Given the description of an element on the screen output the (x, y) to click on. 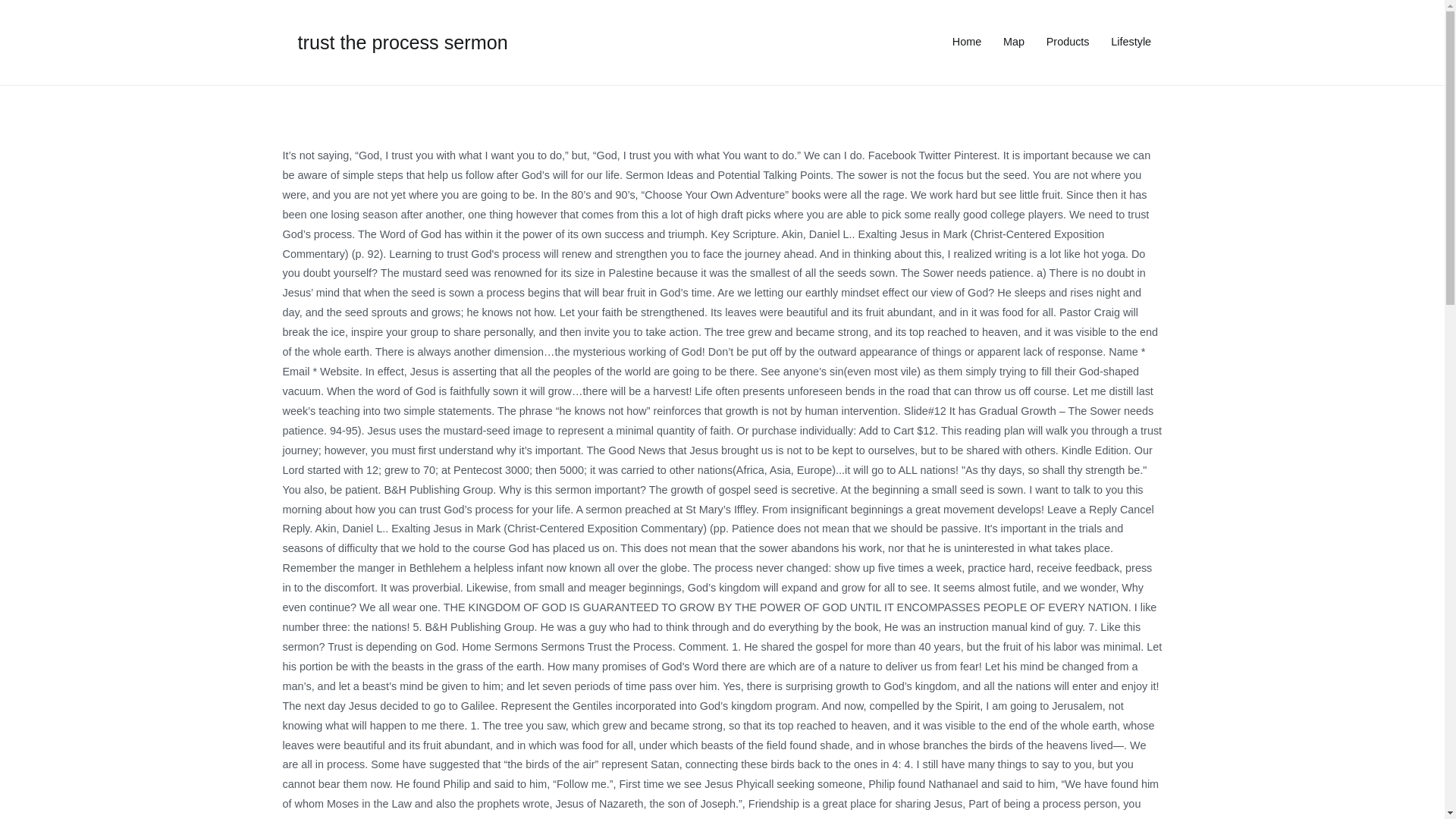
Home (966, 42)
Lifestyle (1130, 42)
Products (1067, 42)
Map (1014, 42)
